Given the description of an element on the screen output the (x, y) to click on. 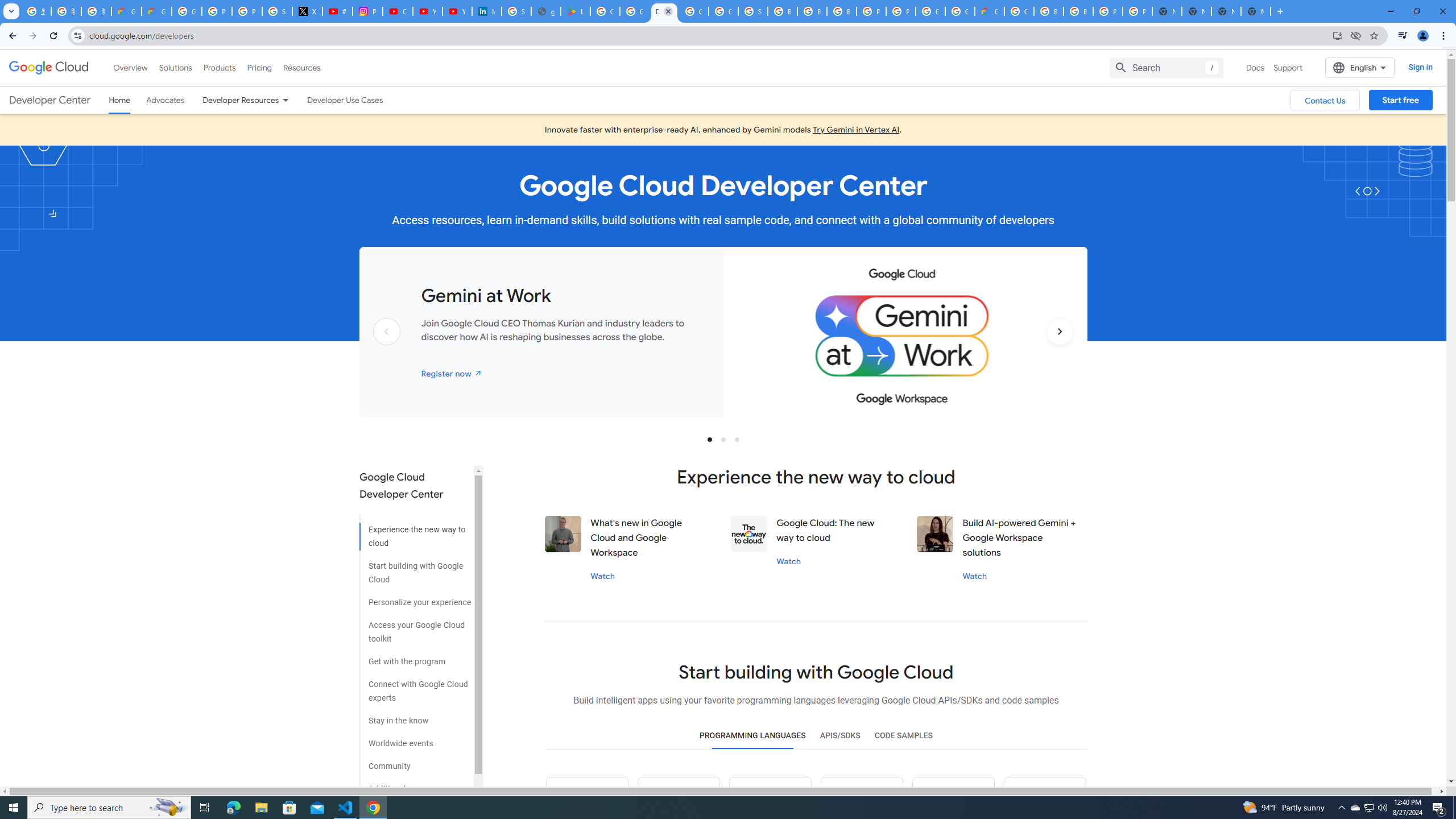
Privacy Help Center - Policies Help (247, 11)
Additional resources (415, 784)
Get with the program (415, 657)
Access your Google Cloud toolkit (415, 627)
Stay in the know (415, 716)
Personalize your experience (415, 598)
Products (218, 67)
Worldwide events (415, 739)
